Given the description of an element on the screen output the (x, y) to click on. 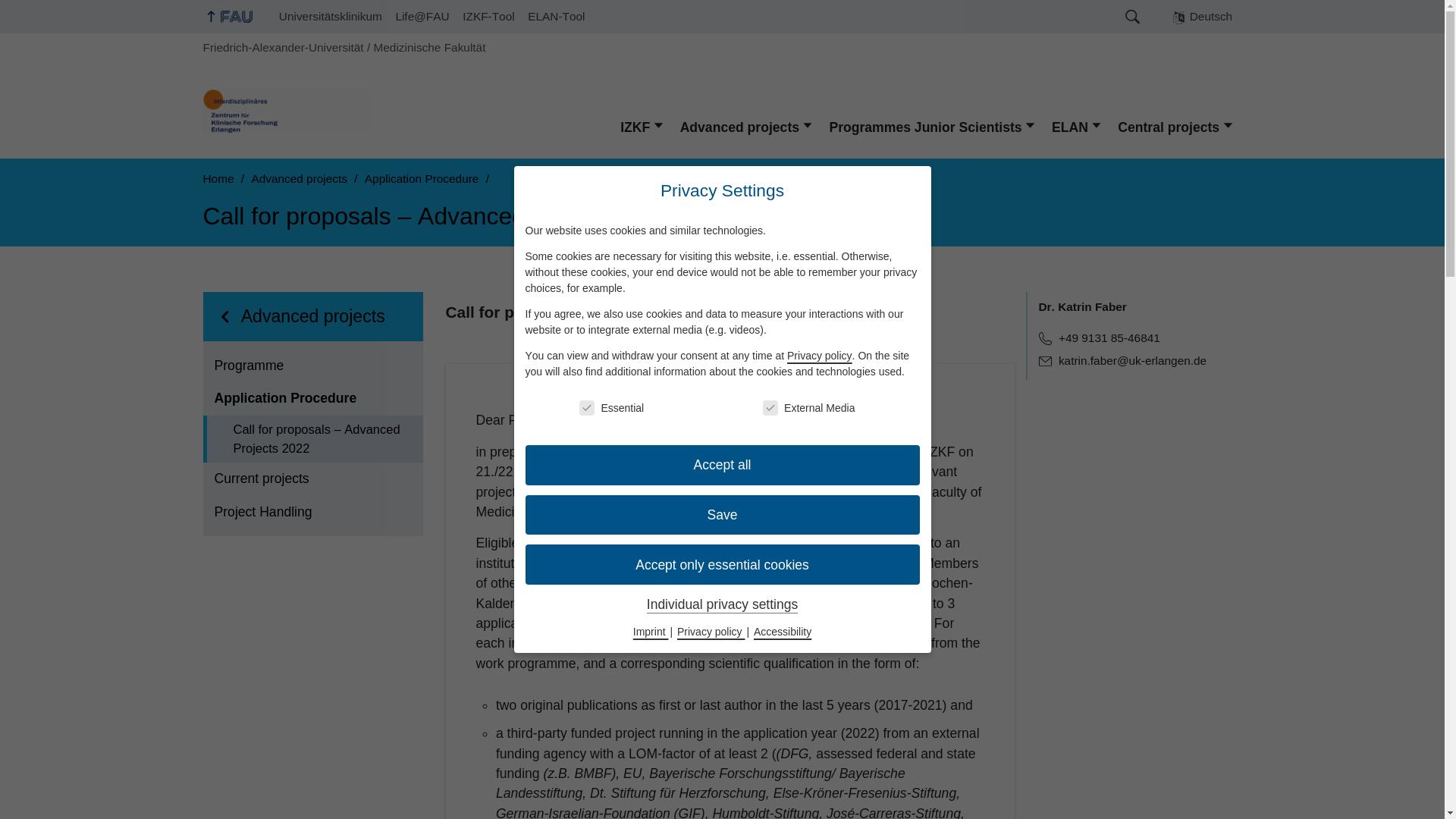
Advanced projects (747, 126)
ELAN-Tool (556, 16)
IZKF-Tool (488, 16)
Programmes Junior Scientists (932, 126)
Deutsch (1202, 16)
IZKF (641, 126)
